Given the description of an element on the screen output the (x, y) to click on. 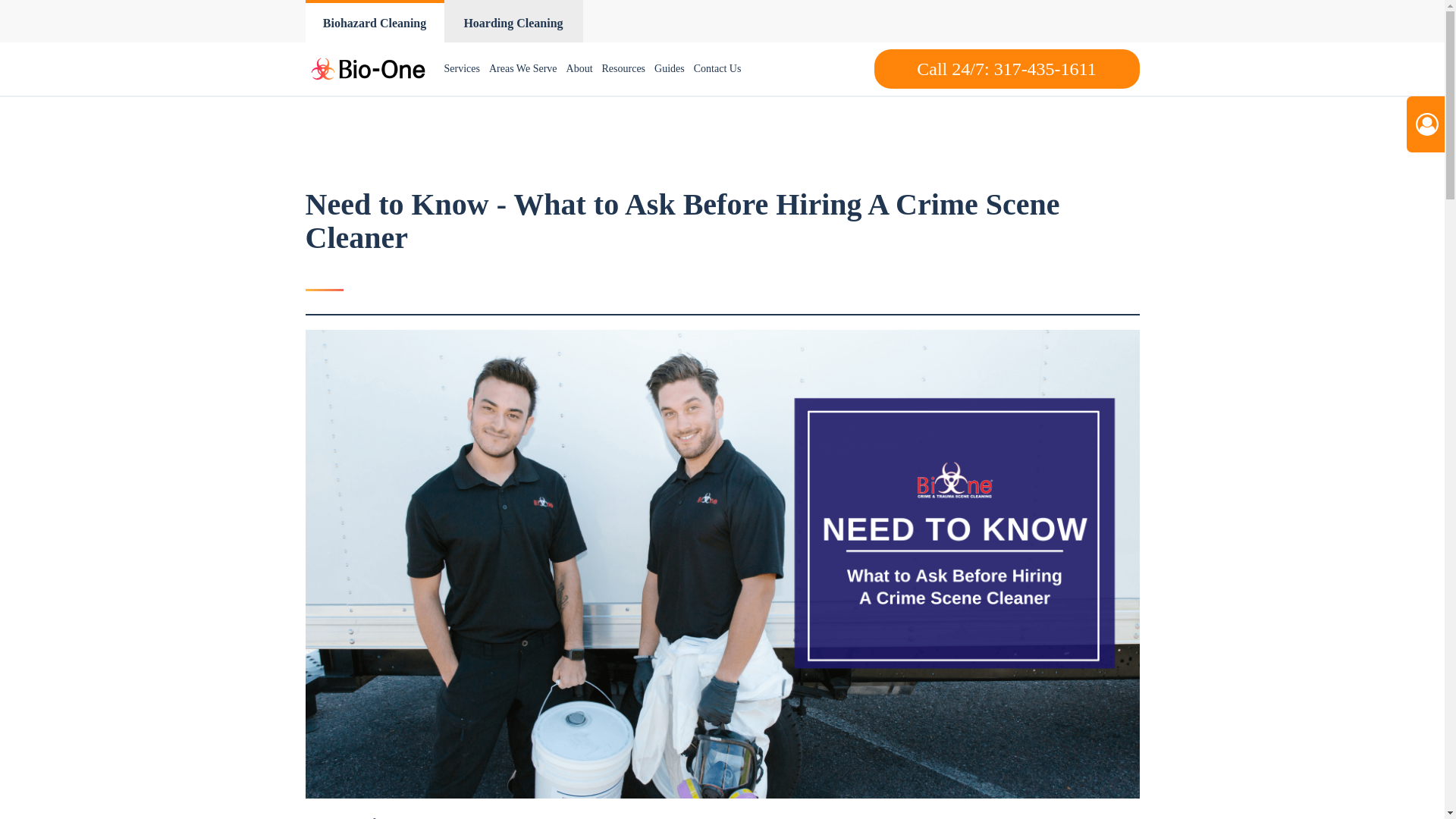
Biohazard Cleaning (374, 21)
Services (461, 68)
Hoarding Cleaning (513, 21)
Contact Us (716, 68)
Resources (623, 68)
Areas We Serve (523, 68)
